Given the description of an element on the screen output the (x, y) to click on. 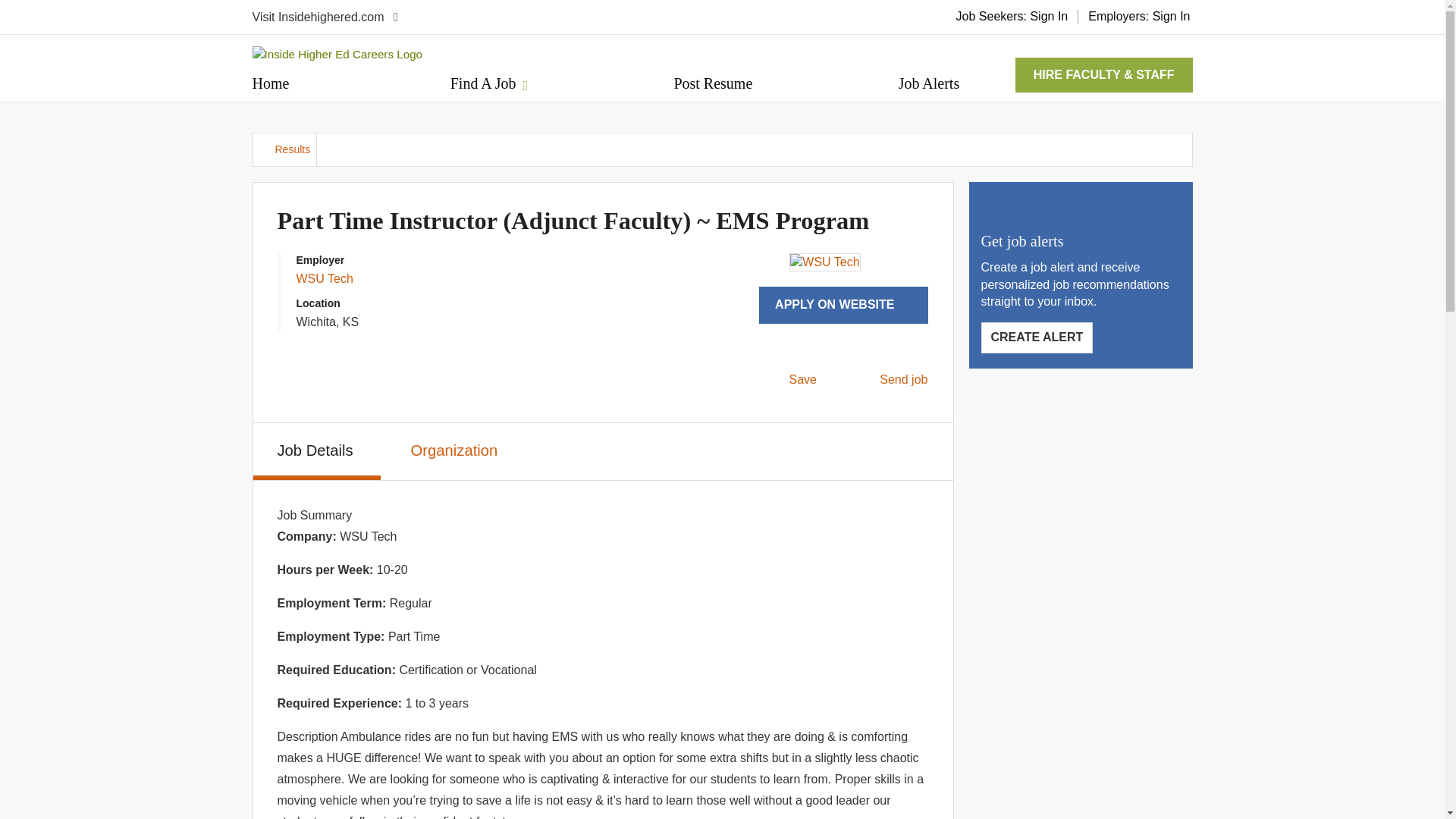
Post Resume (712, 83)
APPLY ON WEBSITE (843, 304)
CREATE ALERT (1037, 337)
Employers: Sign In (1139, 16)
Results (285, 149)
Job Details (316, 451)
Job Seekers: Sign In (1011, 16)
Career Advice (1148, 83)
Home (269, 83)
WSU Tech (323, 278)
Inside Higher Ed Careers (340, 53)
Job Alerts (928, 83)
Organization (456, 449)
